Given the description of an element on the screen output the (x, y) to click on. 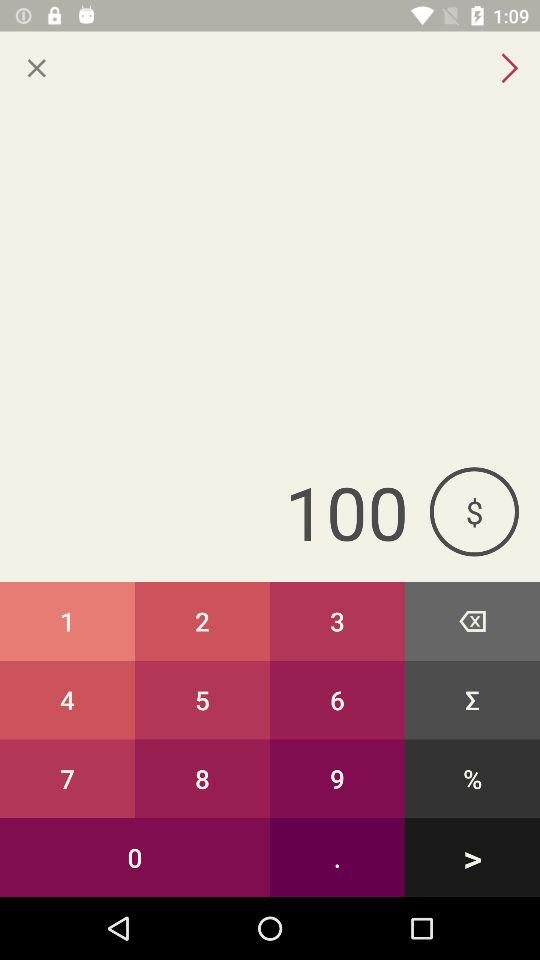
tap icon to the right of the 3 button (472, 620)
